Given the description of an element on the screen output the (x, y) to click on. 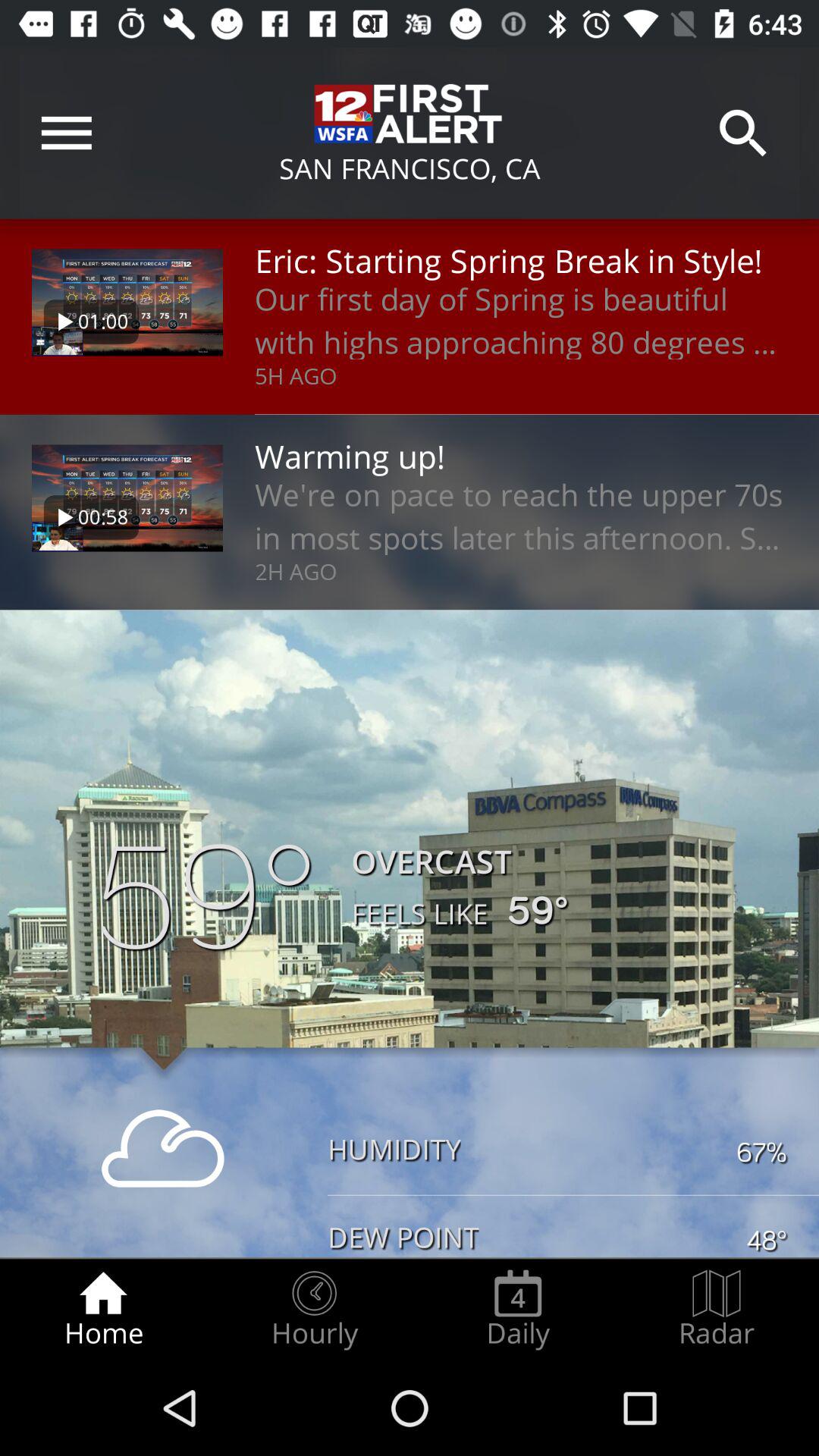
launch the daily (518, 1309)
